Given the description of an element on the screen output the (x, y) to click on. 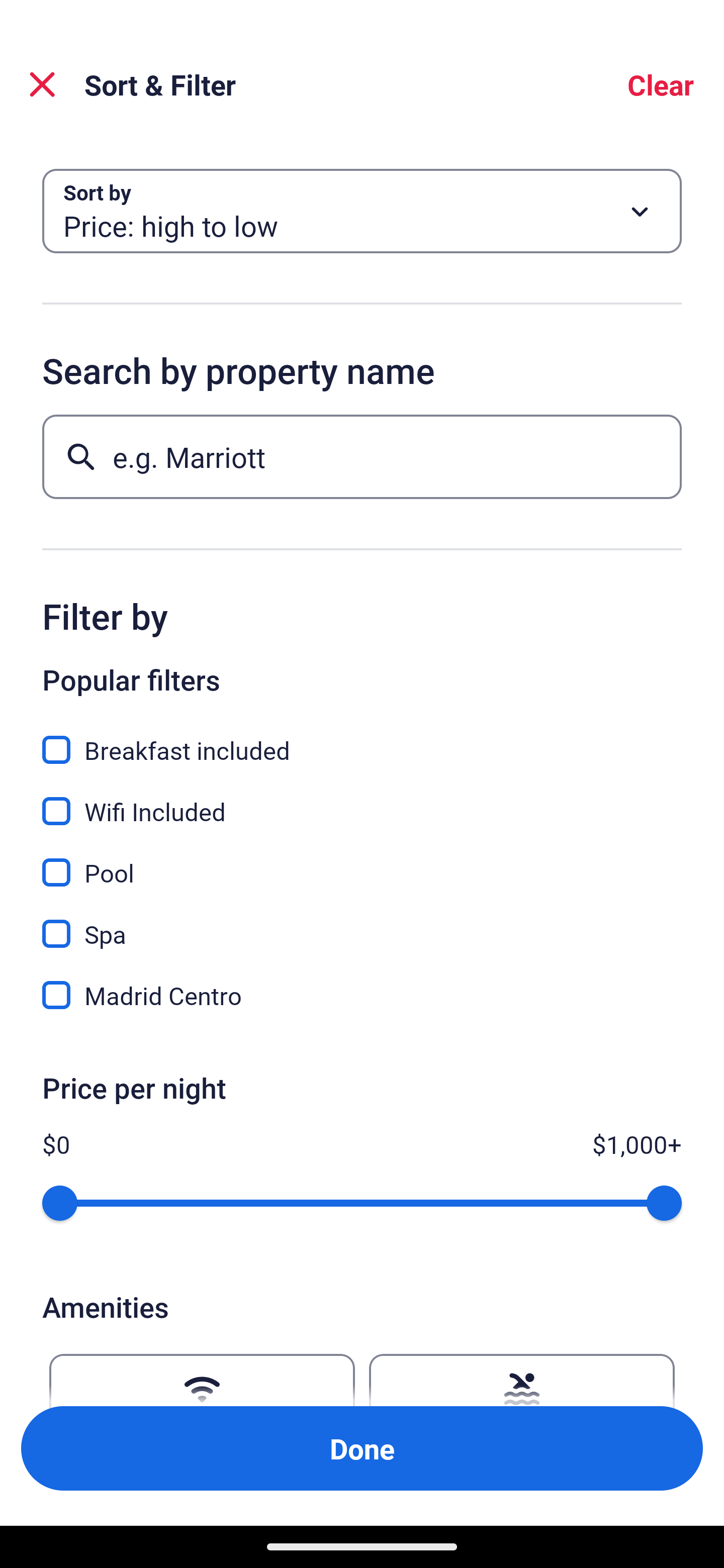
Close Sort and Filter (42, 84)
Clear (660, 84)
Sort by Button Price: high to low (361, 211)
e.g. Marriott Button (361, 455)
Breakfast included, Breakfast included (361, 738)
Wifi Included, Wifi Included (361, 800)
Pool, Pool (361, 861)
Spa, Spa (361, 922)
Madrid Centro, Madrid Centro (361, 995)
Apply and close Sort and Filter Done (361, 1448)
